Given the description of an element on the screen output the (x, y) to click on. 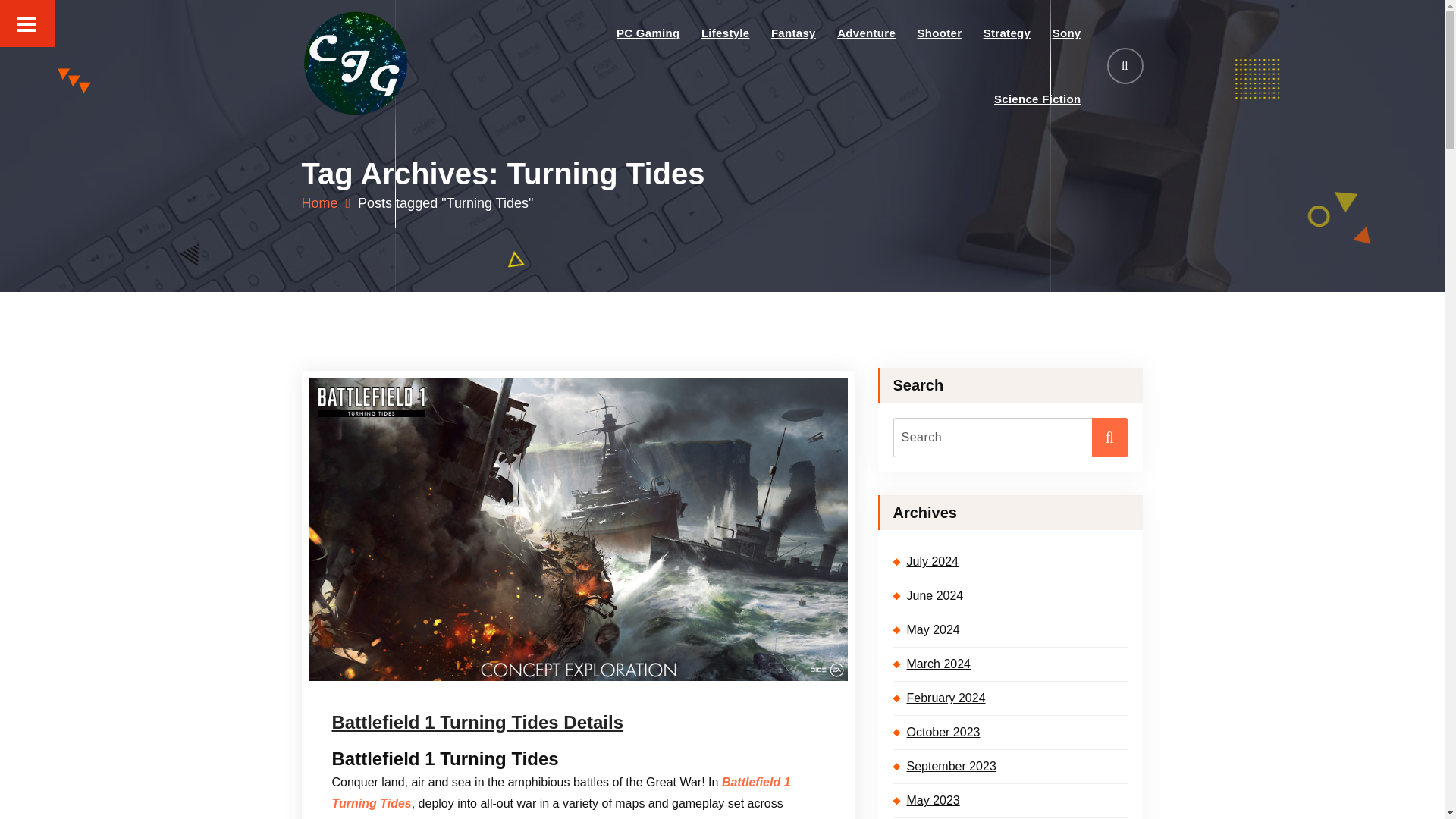
Strategy (1007, 33)
Fantasy (793, 33)
PC Gaming (648, 33)
Adventure (866, 33)
Lifestyle (725, 33)
Strategy (1007, 33)
Home (325, 202)
Sony (1066, 33)
Adventure (866, 33)
Lifestyle (725, 33)
Fantasy (793, 33)
PC Gaming (648, 33)
Shooter (939, 33)
Battlefield 1 Turning Tides Details (578, 722)
Shooter (939, 33)
